Given the description of an element on the screen output the (x, y) to click on. 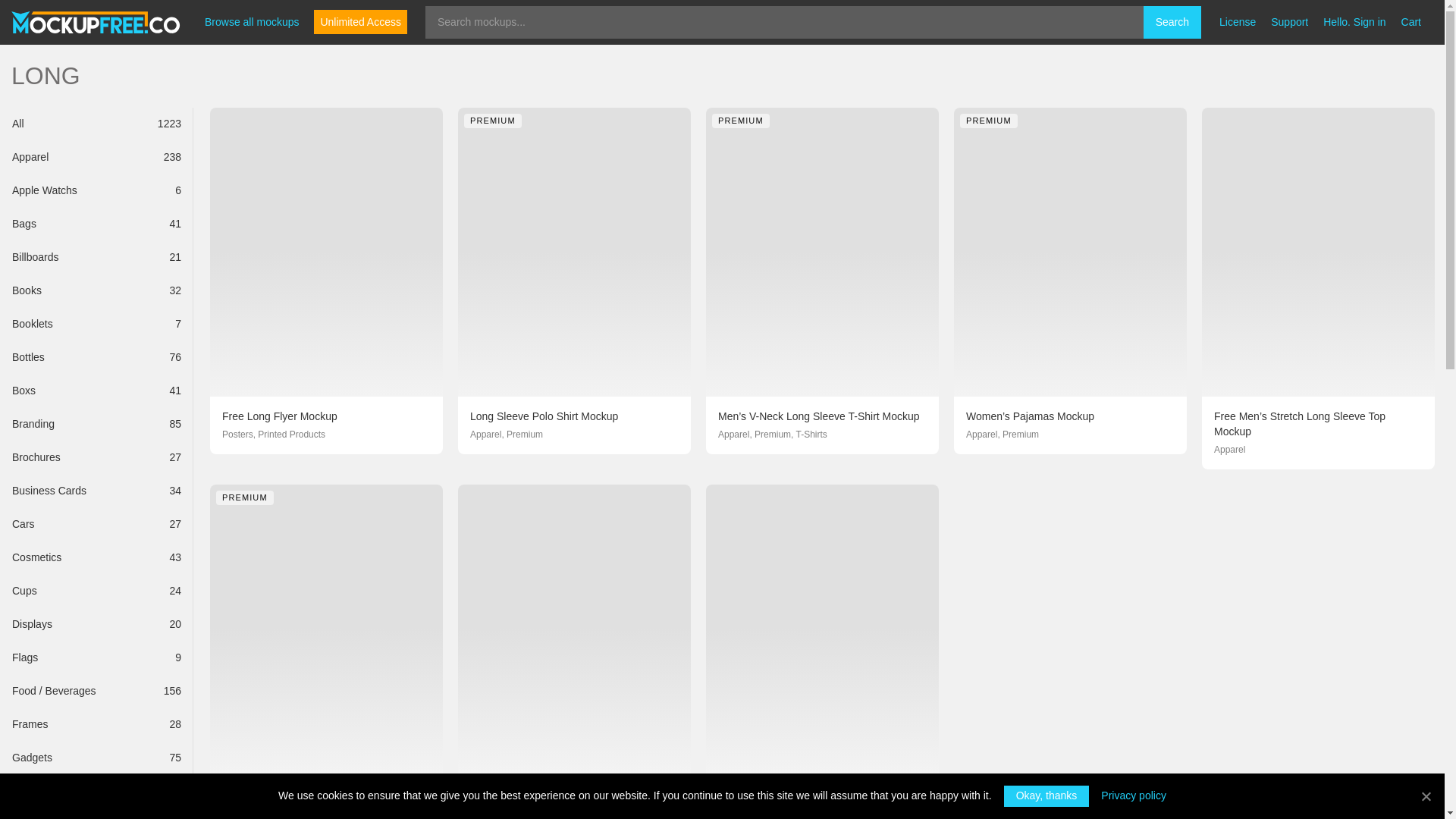
Cart (90, 657)
Support (90, 290)
Hello. Sign in (90, 357)
Search (90, 624)
Browse all mockups (1410, 21)
